Given the description of an element on the screen output the (x, y) to click on. 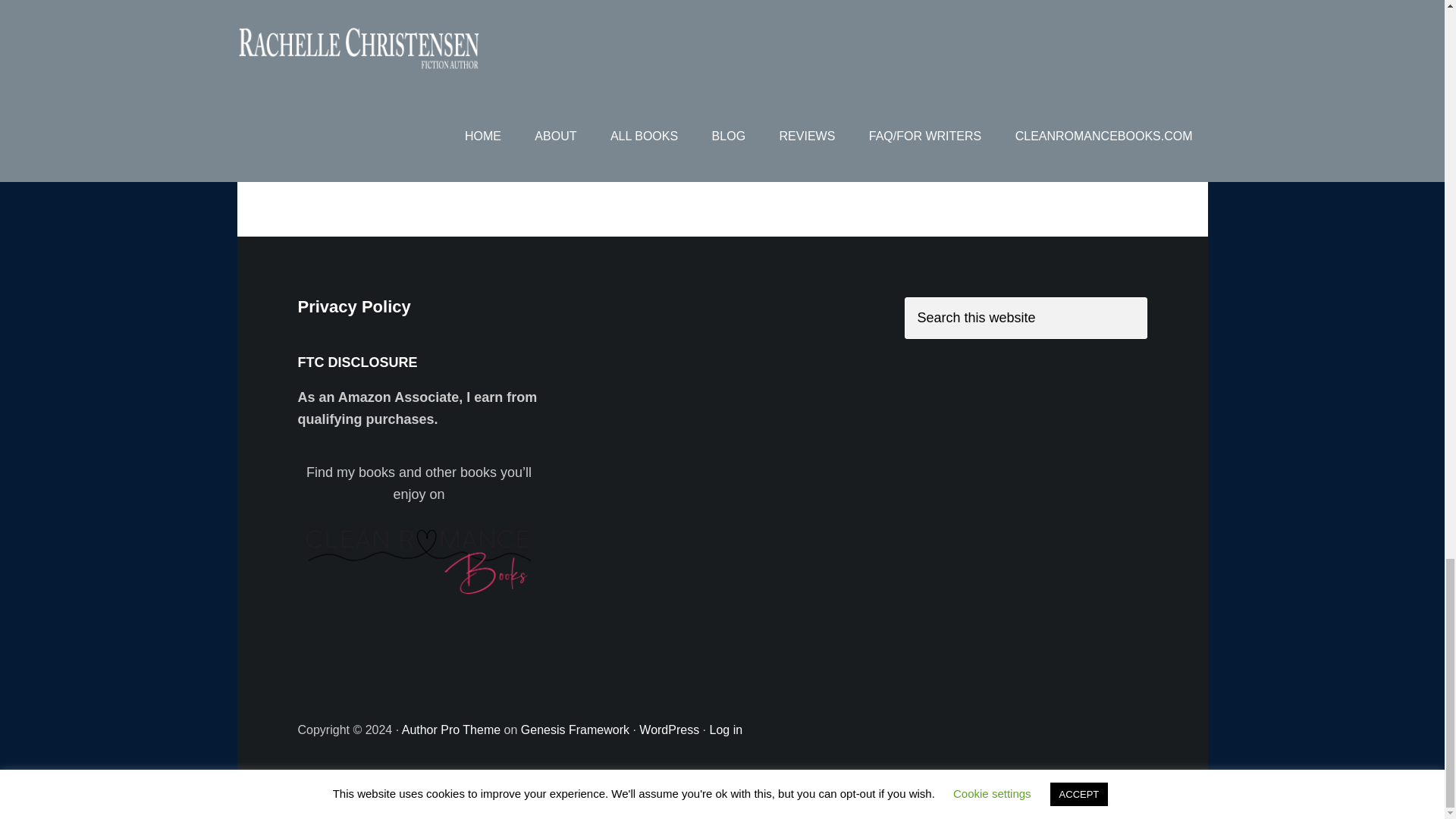
Privacy Policy (353, 306)
Unsubscribe (453, 93)
Subscribe (345, 93)
Book Reviews (405, 145)
middle grade (547, 164)
Unsubscribe (453, 93)
Middle Grade (485, 145)
book review (403, 164)
Subscribe (345, 93)
